Given the description of an element on the screen output the (x, y) to click on. 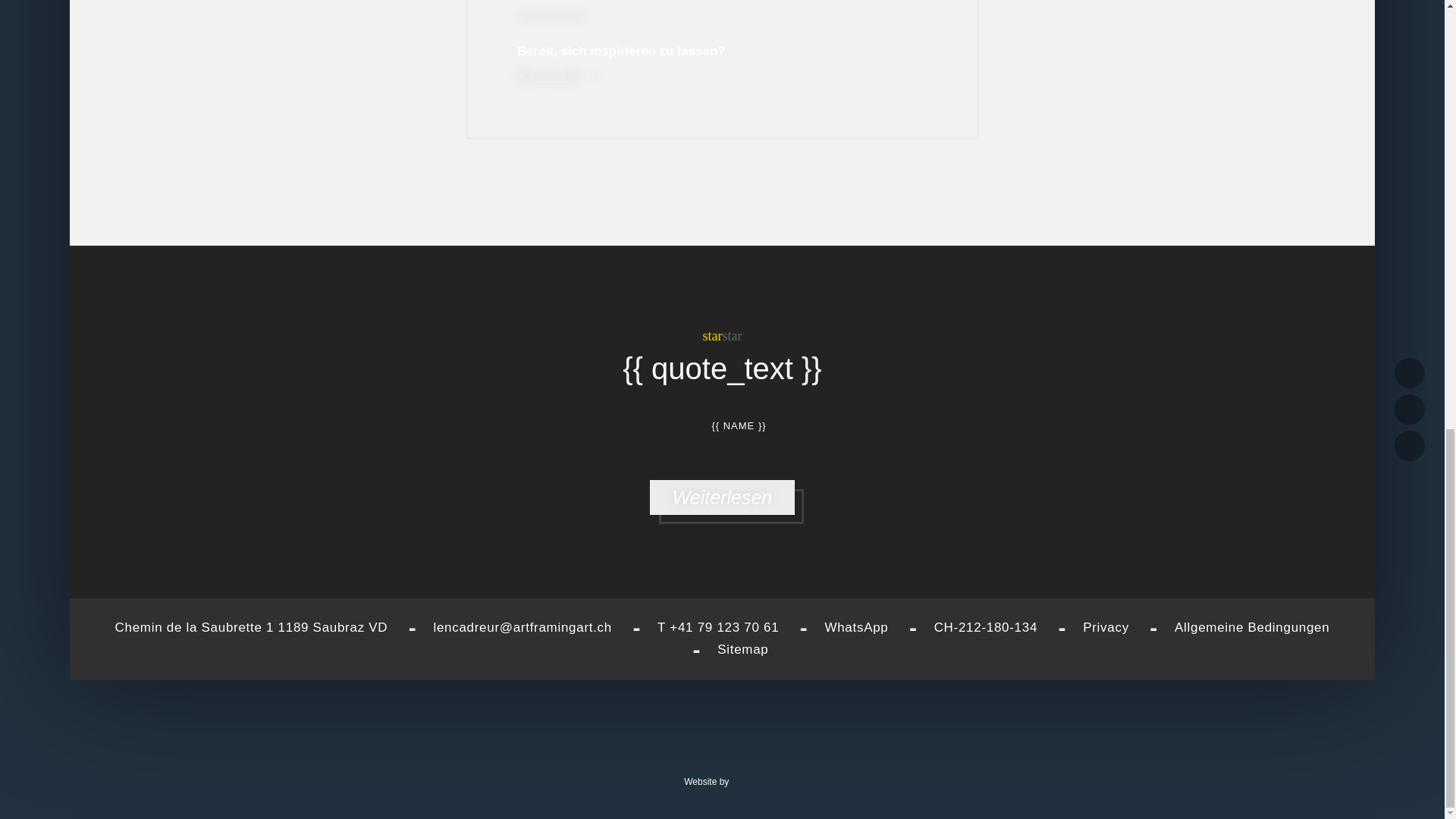
Kontakt (556, 75)
Privacy (1106, 626)
Weiterlesen (721, 497)
Allgemeine Bedingungen (1251, 626)
Sitemap (742, 649)
CH-212-180-134 (985, 626)
WhatsApp (856, 626)
Chemin de la Saubrette 1 1189 Saubraz VD (253, 626)
Website by (706, 781)
